Given the description of an element on the screen output the (x, y) to click on. 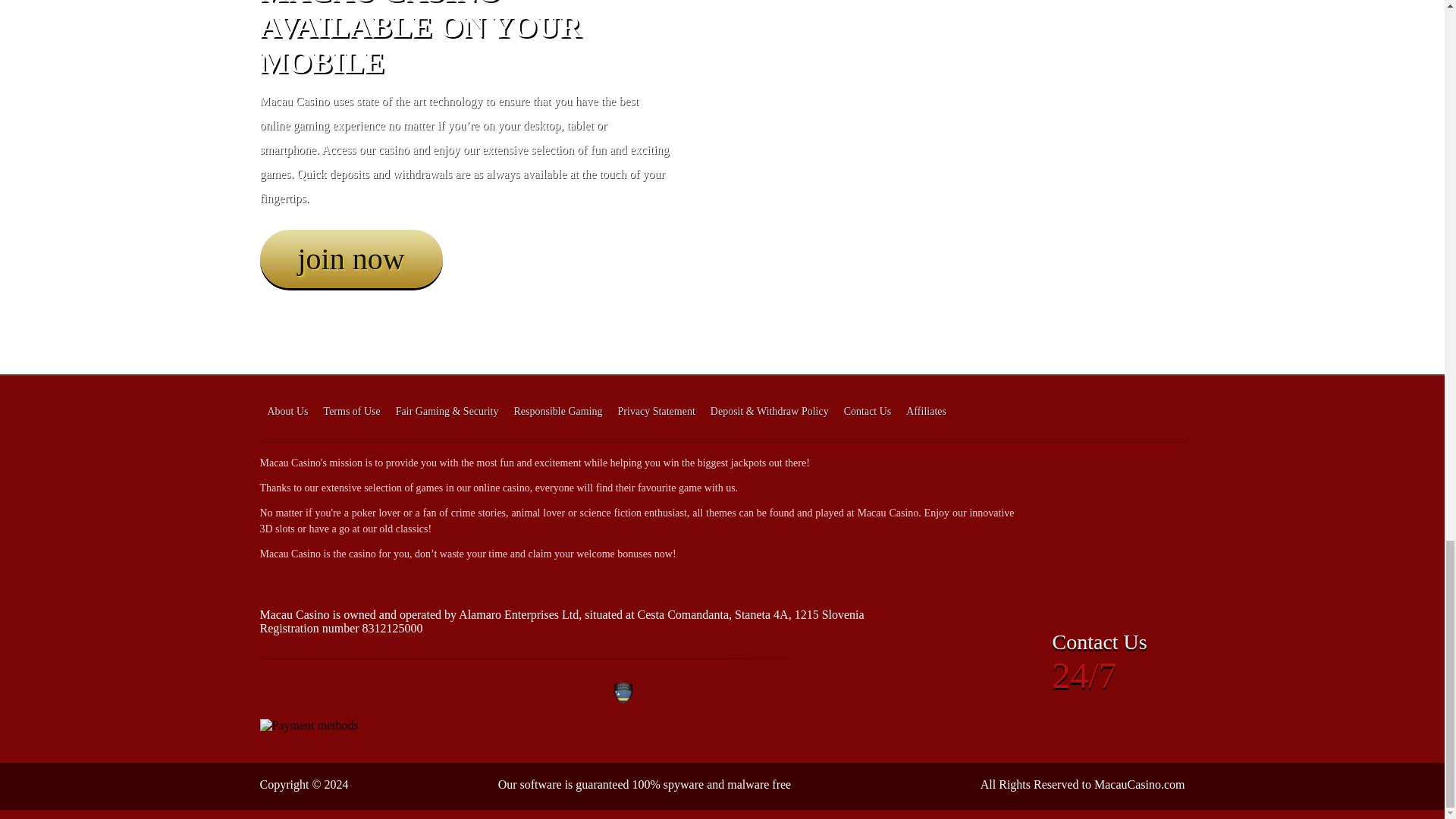
Responsible Gaming (558, 411)
join now (350, 259)
About Us (287, 411)
Contact Us (867, 411)
Terms of Use (351, 411)
Affiliates (925, 411)
Privacy Statement (656, 411)
